Given the description of an element on the screen output the (x, y) to click on. 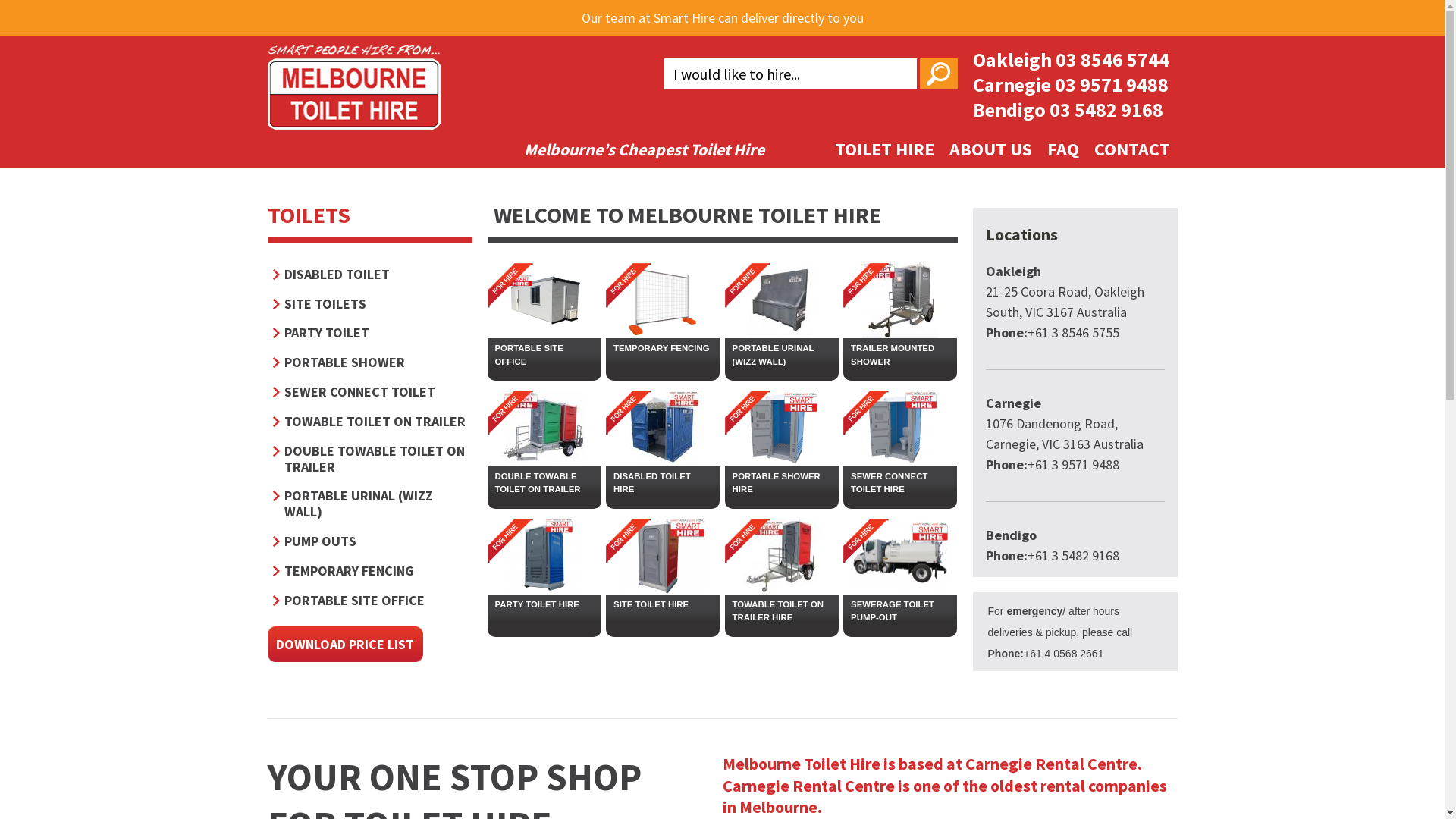
DOUBLE TOWABLE TOILET ON TRAILER Element type: text (370, 458)
CONTACT Element type: text (1130, 148)
DOWNLOAD PRICE LIST Element type: text (344, 643)
TOWABLE TOILET ON TRAILER HIRE Element type: text (781, 610)
TEMPORARY FENCING Element type: text (370, 570)
Enter the terms you wish to search for. Element type: hover (790, 73)
Skip to main content Element type: text (680, 1)
PARTY TOILET HIRE Element type: text (543, 604)
TOWABLE TOILET ON TRAILER Element type: text (370, 421)
03 8546 5744 Element type: text (1112, 59)
PUMP OUTS Element type: text (370, 541)
PORTABLE URINAL (WIZZ WALL) Element type: text (781, 354)
PORTABLE SHOWER Element type: text (370, 362)
ABOUT US Element type: text (990, 148)
TEMPORARY FENCING Element type: text (662, 348)
PORTABLE URINAL (WIZZ WALL) Element type: text (370, 503)
SEWER CONNECT TOILET Element type: text (370, 391)
SITE TOILETS Element type: text (370, 303)
FAQ Element type: text (1061, 148)
SITE TOILET HIRE Element type: text (662, 604)
TRAILER MOUNTED SHOWER Element type: text (900, 354)
SEWER CONNECT TOILET HIRE Element type: text (900, 482)
PORTABLE SITE OFFICE Element type: text (543, 354)
SEWERAGE TOILET PUMP-OUT Element type: text (900, 610)
DISABLED TOILET Element type: text (370, 274)
PORTABLE SHOWER HIRE Element type: text (781, 482)
DOUBLE TOWABLE TOILET ON TRAILER Element type: text (543, 482)
Search Element type: text (938, 73)
03 9571 9488 Element type: text (1110, 84)
TOILET HIRE Element type: text (883, 148)
Phone:+61 4 0568 2661 Element type: text (1045, 653)
PORTABLE SITE OFFICE Element type: text (370, 600)
PARTY TOILET Element type: text (370, 332)
DISABLED TOILET HIRE Element type: text (662, 482)
03 5482 9168 Element type: text (1106, 109)
